Given the description of an element on the screen output the (x, y) to click on. 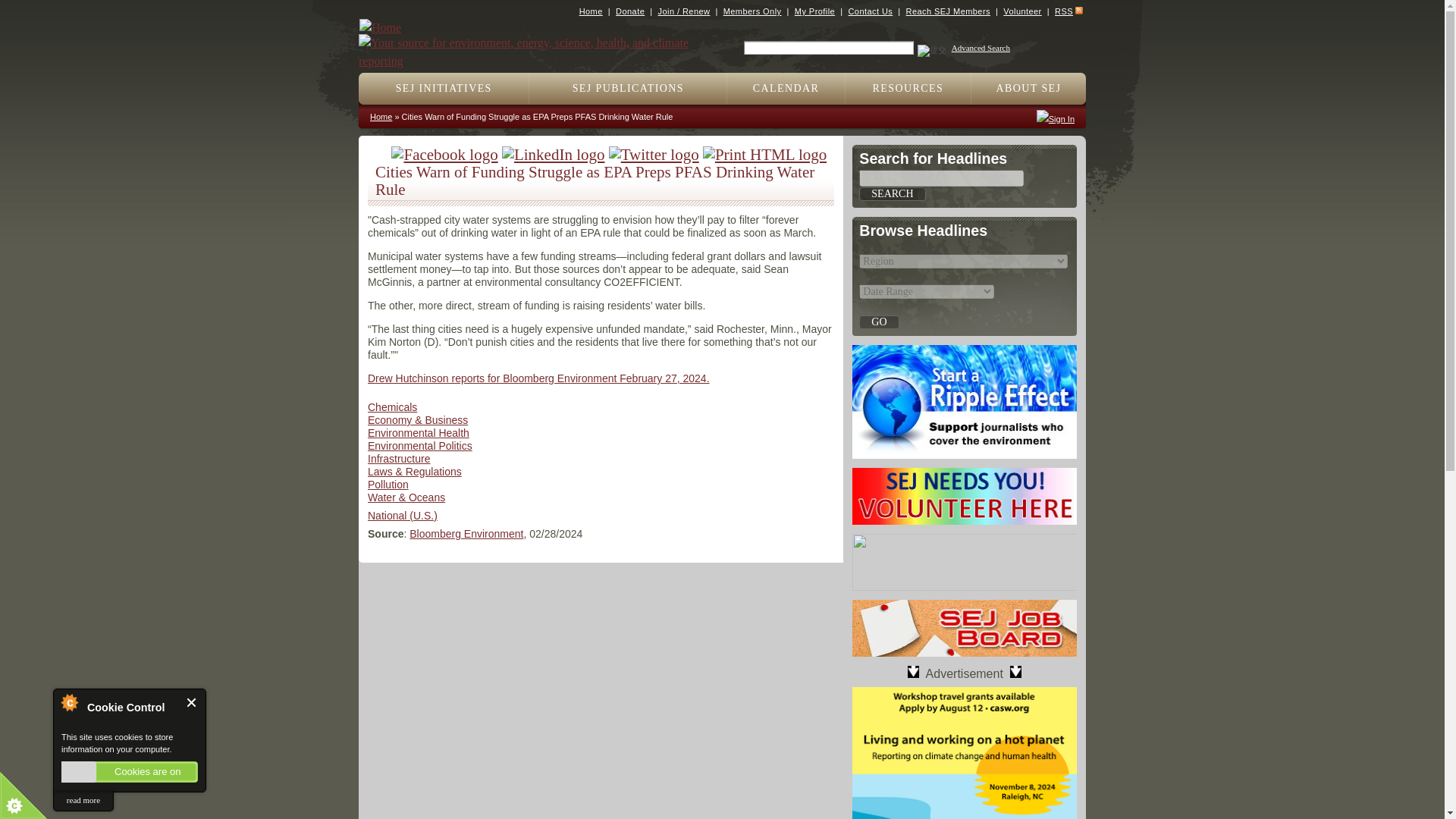
Go (878, 322)
Enter the terms you wish to search for. (829, 47)
Cookies are on (129, 772)
SEJ INITIATIVES (443, 88)
Home (590, 10)
Volunteer (1022, 10)
Donate (630, 10)
Close (191, 702)
Search (891, 193)
My Profile (814, 10)
